Given the description of an element on the screen output the (x, y) to click on. 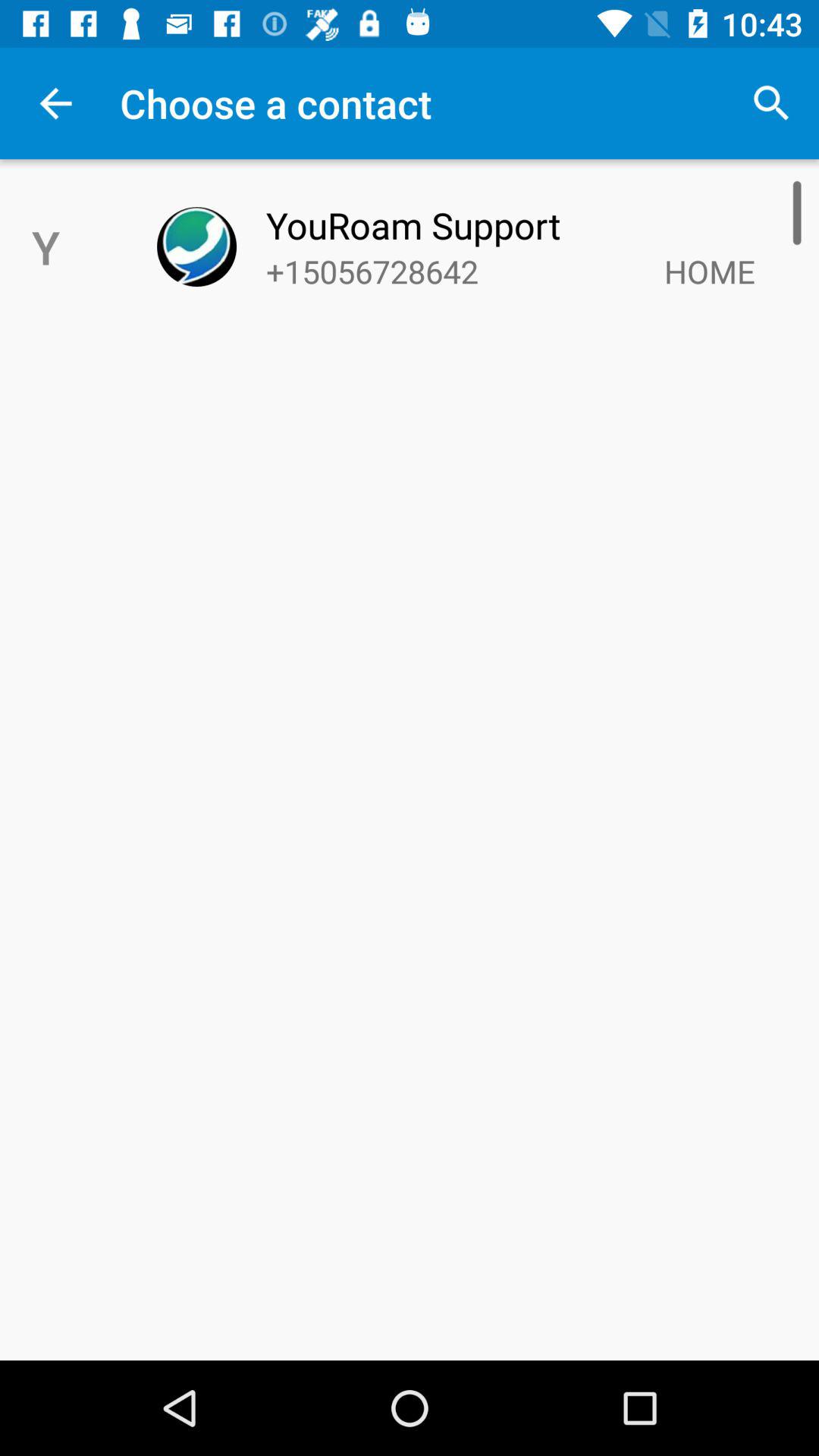
launch app next to the choose a contact app (771, 103)
